Given the description of an element on the screen output the (x, y) to click on. 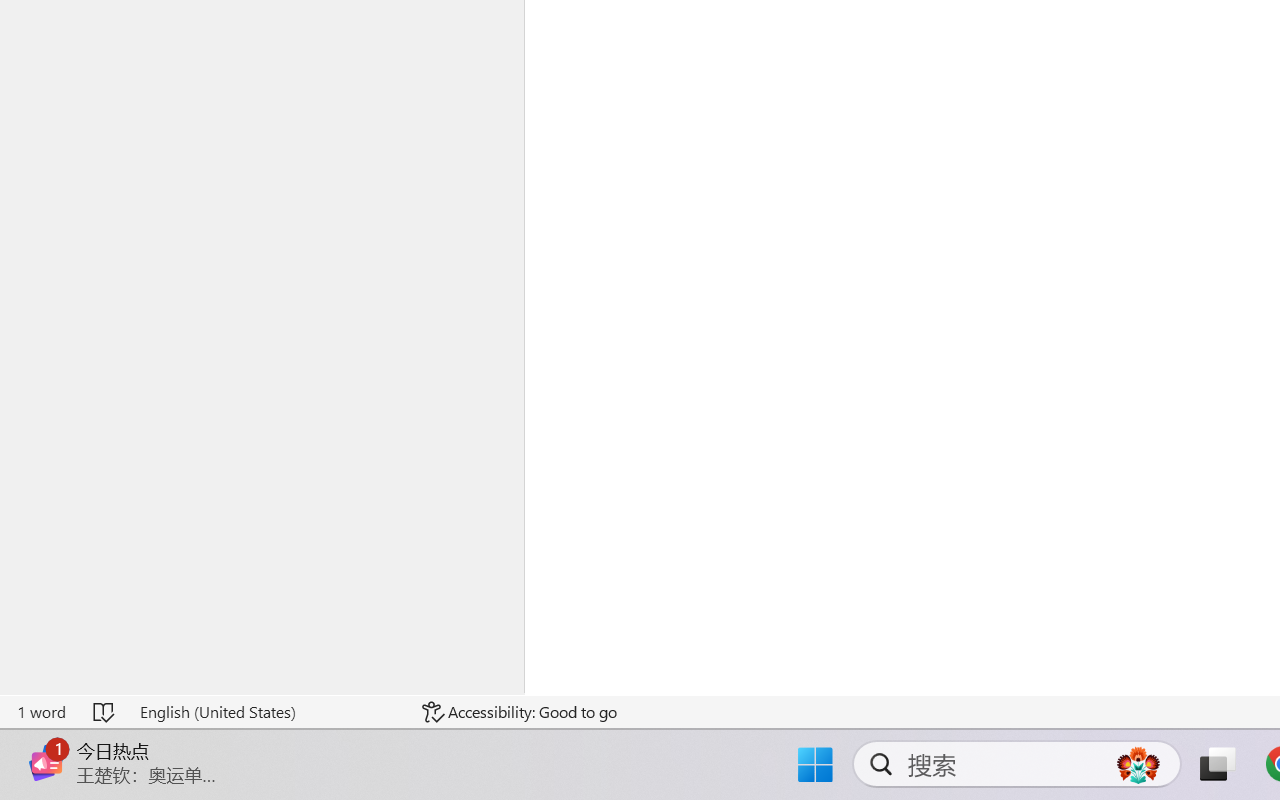
Accessibility Checker Accessibility: Good to go (519, 712)
Word Count 1 word (41, 712)
Class: Image (46, 762)
Spelling and Grammar Check No Errors (105, 712)
AutomationID: DynamicSearchBoxGleamImage (1138, 764)
Language English (United States) (267, 712)
